Given the description of an element on the screen output the (x, y) to click on. 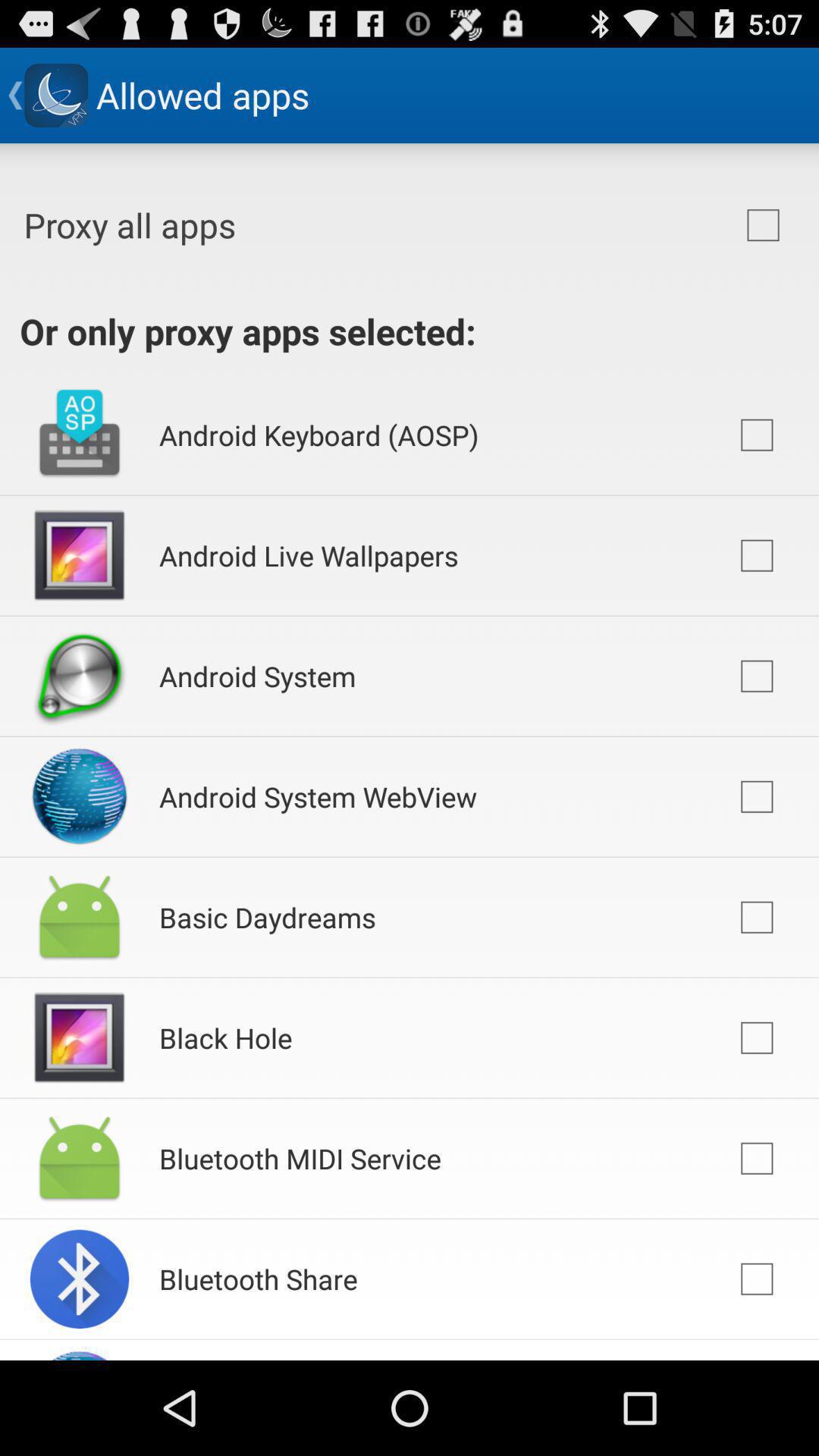
choose the item below android system webview app (267, 917)
